Given the description of an element on the screen output the (x, y) to click on. 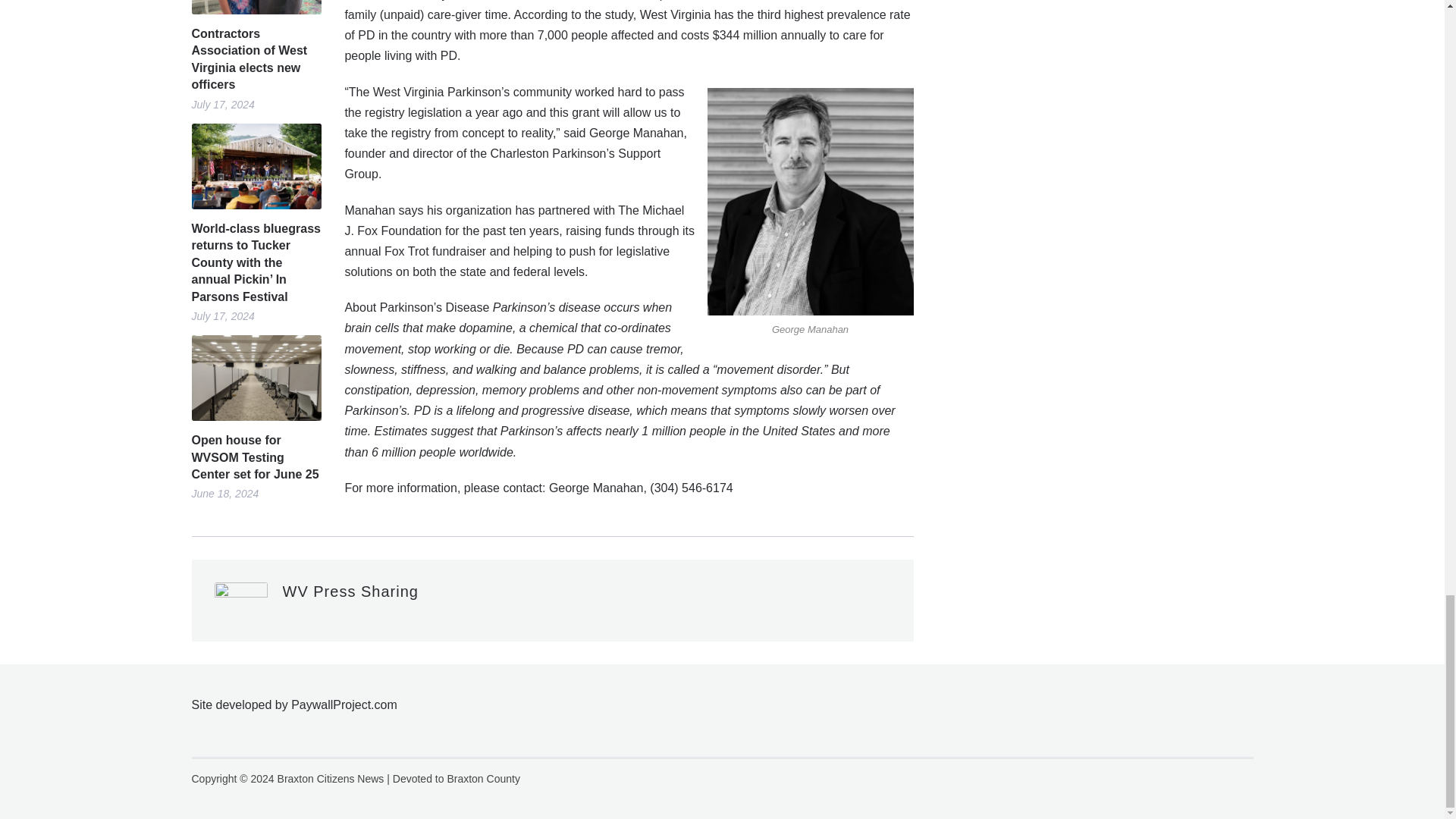
Posts by WV Press Sharing (349, 591)
